Given the description of an element on the screen output the (x, y) to click on. 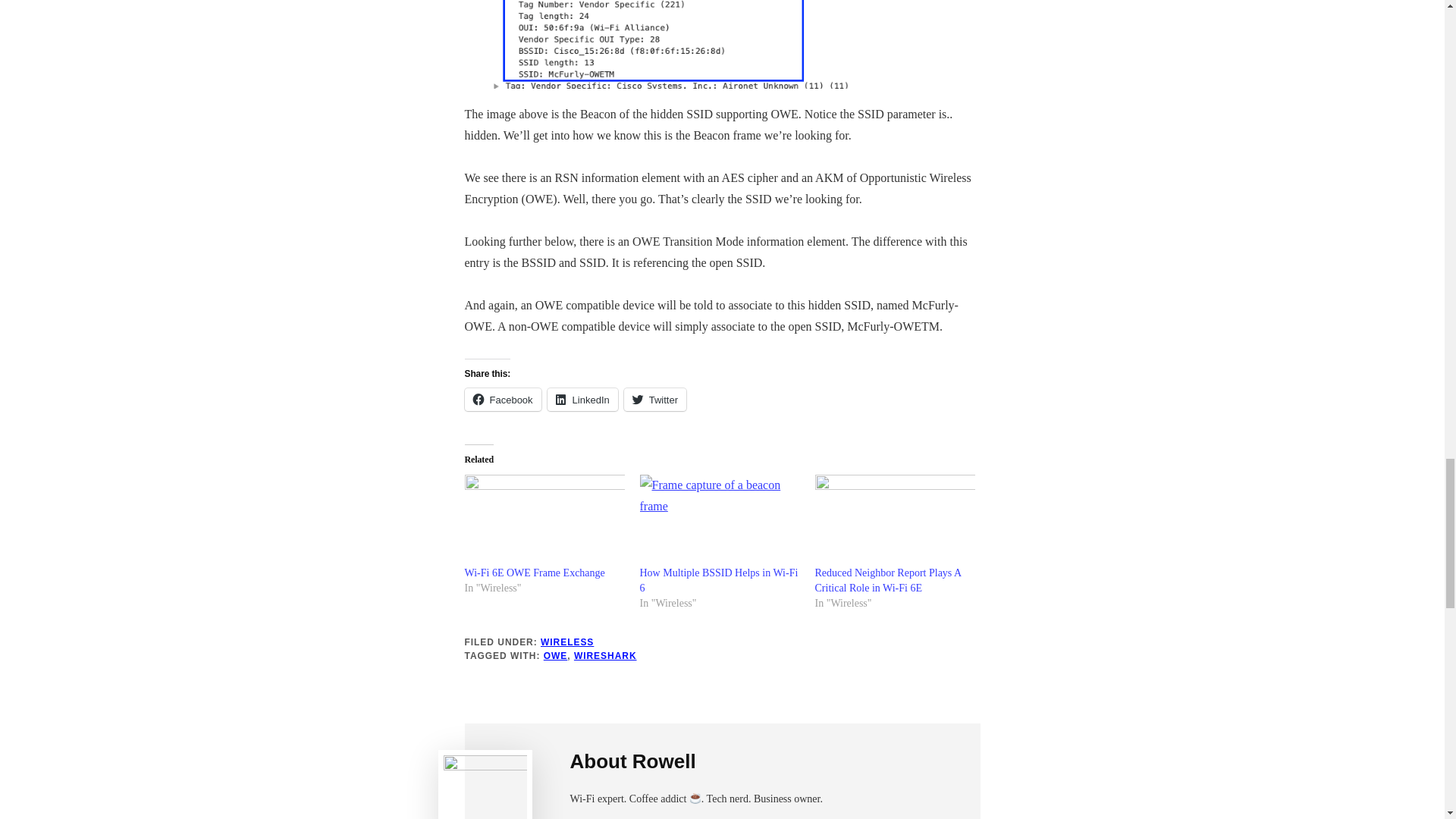
LinkedIn (582, 399)
OWE (555, 655)
Wi-Fi 6E OWE Frame Exchange (544, 520)
Facebook (502, 399)
Reduced Neighbor Report Plays A Critical Role in Wi-Fi 6E (893, 520)
Click to share on Facebook (502, 399)
Twitter (654, 399)
WIRESHARK (605, 655)
Click to share on Twitter (654, 399)
Wi-Fi 6E OWE Frame Exchange (534, 572)
Wi-Fi 6E OWE Frame Exchange (534, 572)
Click to share on LinkedIn (582, 399)
How Multiple BSSID Helps in Wi-Fi 6 (718, 580)
How Multiple BSSID Helps in Wi-Fi 6 (718, 580)
Reduced Neighbor Report Plays A Critical Role in Wi-Fi 6E (886, 580)
